Given the description of an element on the screen output the (x, y) to click on. 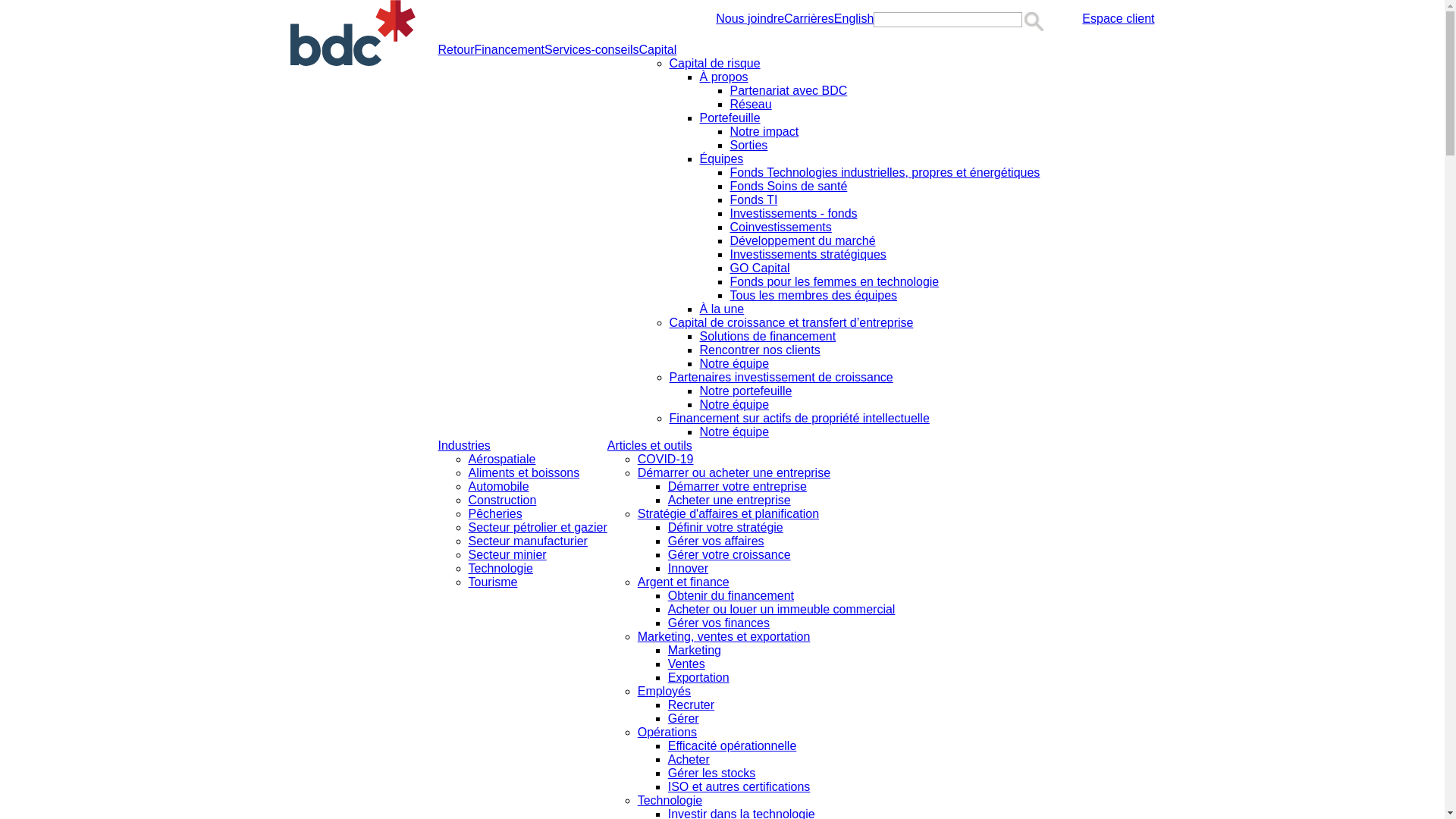
Coinvestissements Element type: text (780, 226)
Industries Element type: text (464, 445)
Partenariat avec BDC Element type: text (788, 90)
Notre impact Element type: text (764, 131)
Technologie Element type: text (500, 567)
COVID-19 Element type: text (665, 458)
Marketing Element type: text (694, 649)
Marketing, ventes et exportation Element type: text (723, 636)
Recherche Element type: hover (1033, 21)
Solutions de financement Element type: text (767, 335)
Nous joindre Element type: text (749, 18)
Construction Element type: text (502, 499)
English Element type: text (853, 18)
Acheter une entreprise Element type: text (729, 499)
GO Capital Element type: text (760, 267)
Secteur minier Element type: text (507, 554)
Automobile Element type: text (498, 486)
Obtenir du financement Element type: text (730, 595)
Investissements - fonds Element type: text (793, 213)
Innover Element type: text (688, 567)
Aliments et boissons Element type: text (524, 472)
Capital de risque Element type: text (714, 62)
Fonds TI Element type: text (754, 199)
Sorties Element type: text (749, 144)
Acheter Element type: text (688, 759)
Secteur manufacturier Element type: text (527, 540)
ISO et autres certifications Element type: text (739, 786)
Retour Element type: text (456, 49)
Exportation Element type: text (698, 677)
Services-conseils Element type: text (591, 49)
Partenaires investissement de croissance Element type: text (781, 376)
Ventes Element type: text (686, 663)
Notre portefeuille Element type: text (745, 390)
Portefeuille Element type: text (729, 117)
Espace client Element type: text (1118, 18)
Financement Element type: text (509, 49)
Tourisme Element type: text (492, 581)
Acheter ou louer un immeuble commercial Element type: text (781, 608)
Recruter Element type: text (691, 704)
Fonds pour les femmes en technologie Element type: text (834, 281)
Capital Element type: text (658, 49)
Technologie Element type: text (669, 799)
Rencontrer nos clients Element type: text (759, 349)
Argent et finance Element type: text (683, 581)
Articles et outils Element type: text (649, 445)
